Given the description of an element on the screen output the (x, y) to click on. 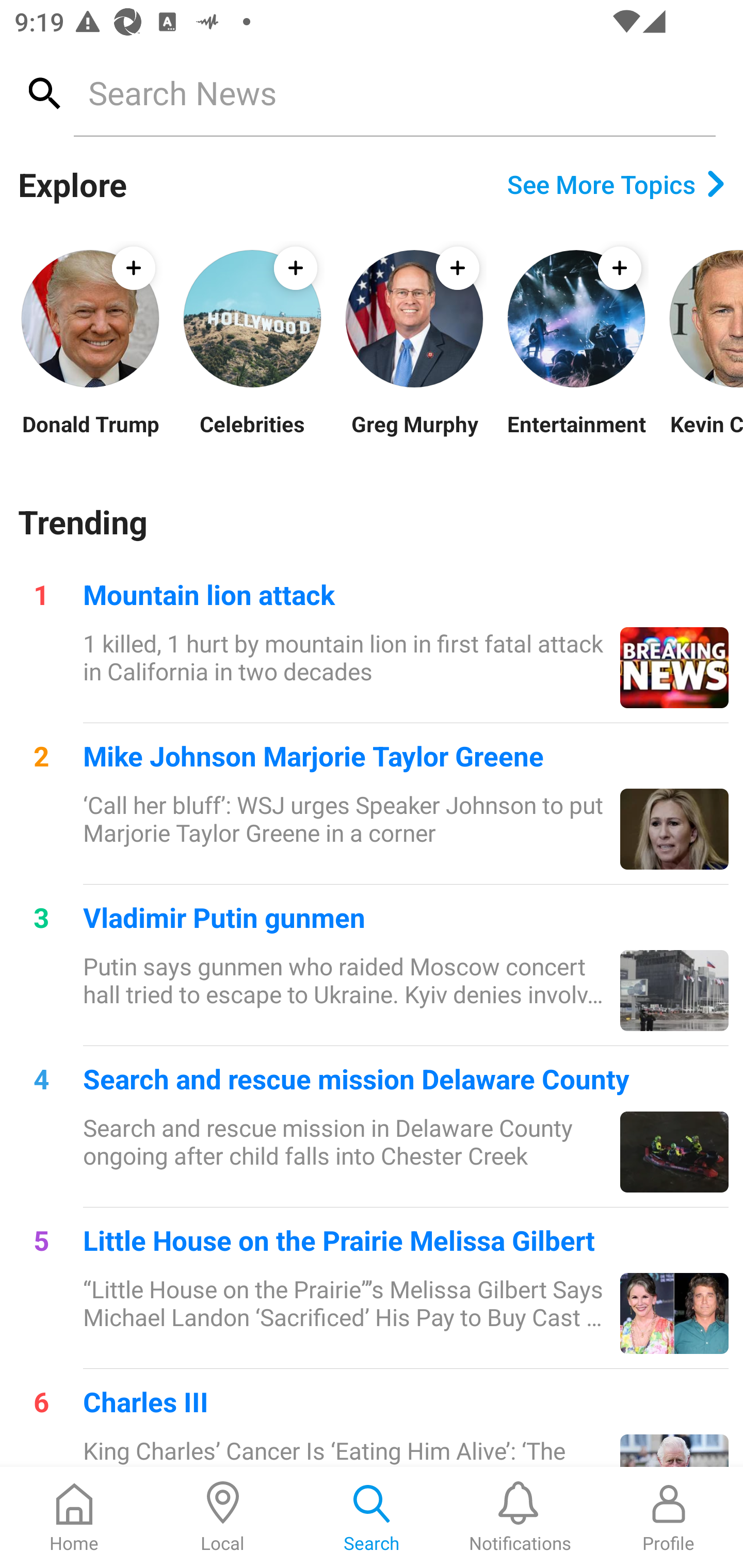
Search News (394, 92)
See More Topics (616, 183)
Donald Trump (89, 436)
Celebrities (251, 436)
Greg Murphy (413, 436)
Entertainment (575, 436)
Home (74, 1517)
Local (222, 1517)
Notifications (519, 1517)
Profile (668, 1517)
